Given the description of an element on the screen output the (x, y) to click on. 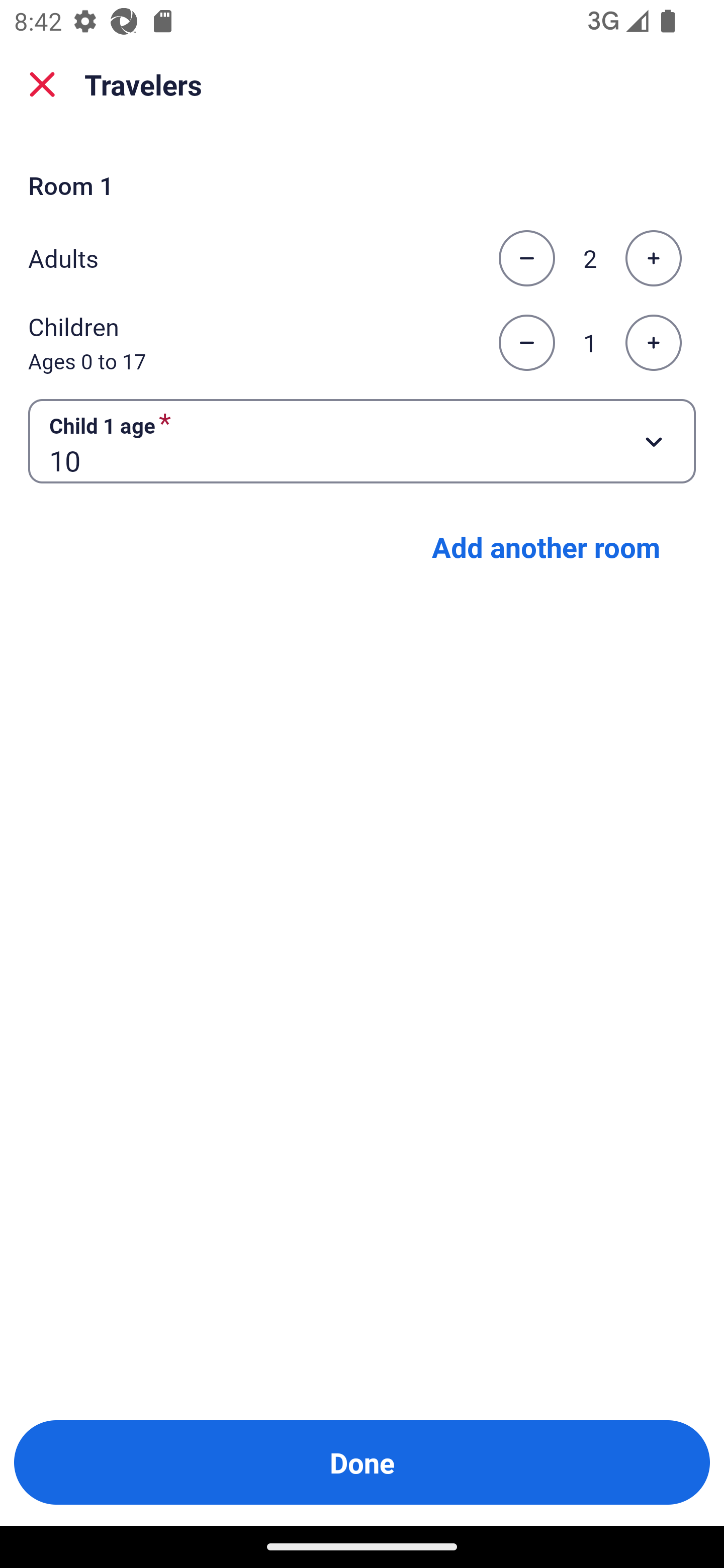
close (42, 84)
Decrease the number of adults (526, 258)
Increase the number of adults (653, 258)
Decrease the number of children (526, 343)
Increase the number of children (653, 343)
Child 1 age required Button 10 (361, 440)
Add another room (545, 546)
Done (361, 1462)
